Given the description of an element on the screen output the (x, y) to click on. 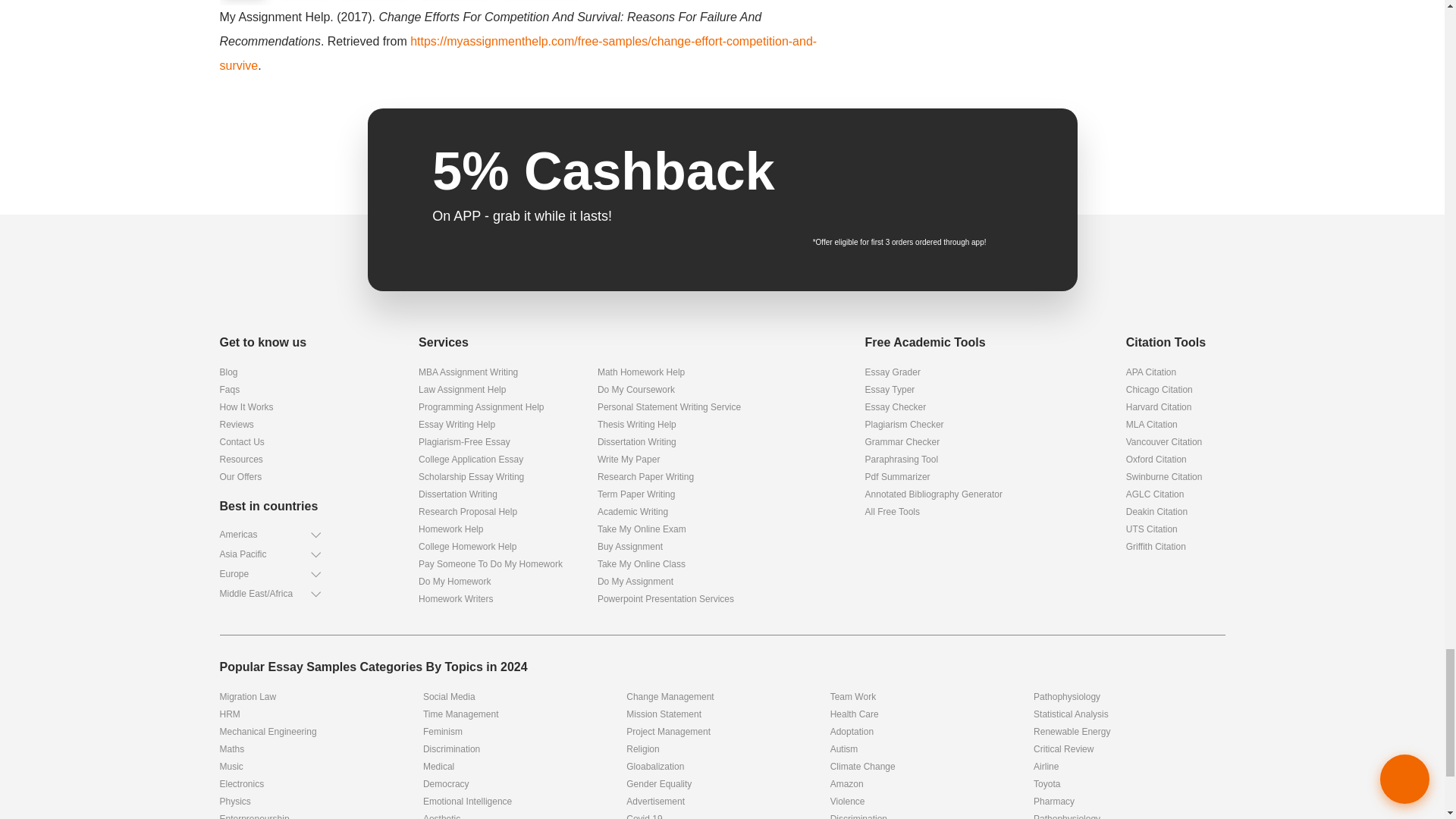
pataka (721, 276)
app-store (858, 165)
google-pay (858, 206)
qrcode (973, 190)
